Given the description of an element on the screen output the (x, y) to click on. 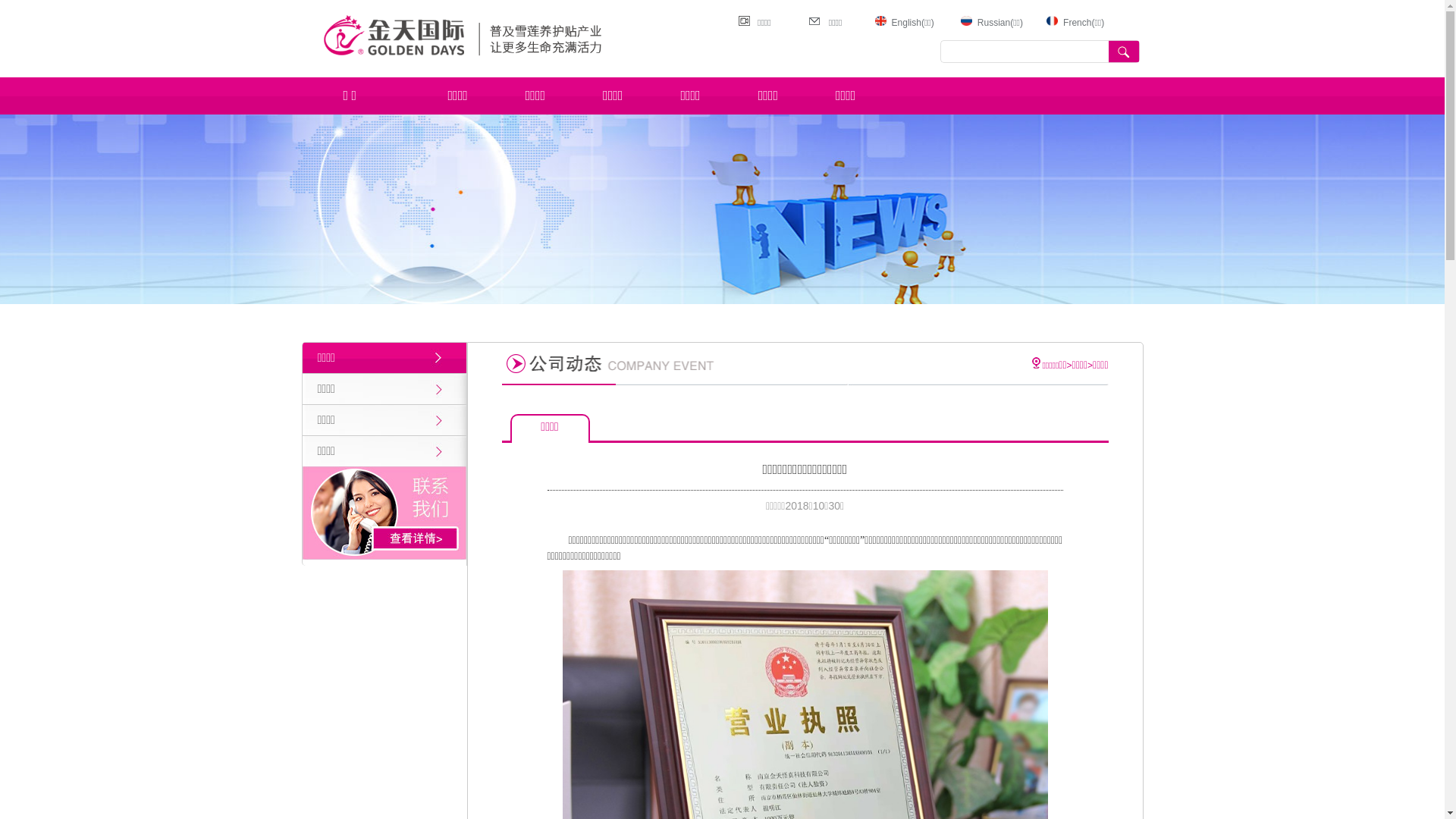
  Element type: text (1123, 51)
